Given the description of an element on the screen output the (x, y) to click on. 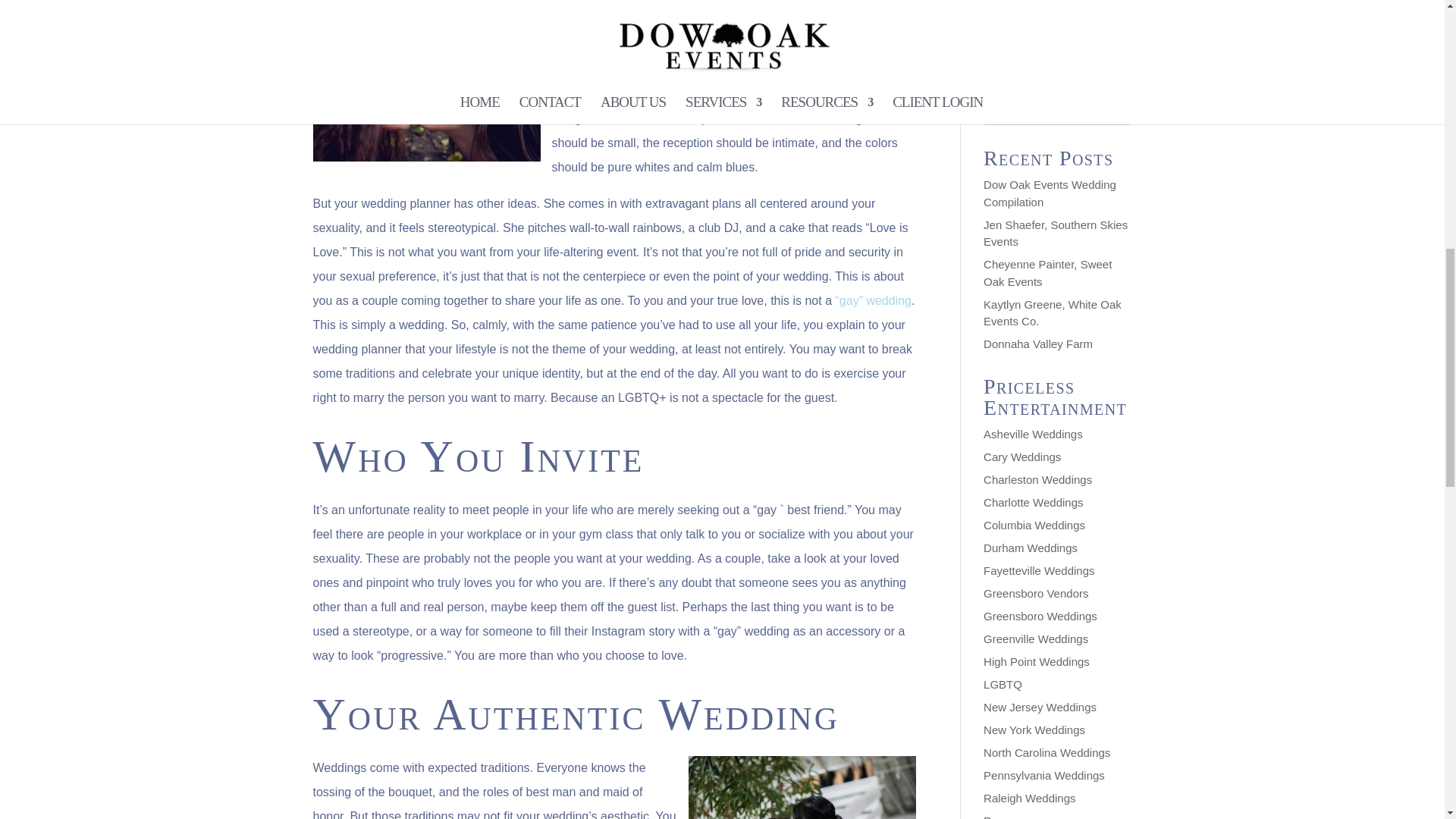
Who You Invite (478, 456)
